Given the description of an element on the screen output the (x, y) to click on. 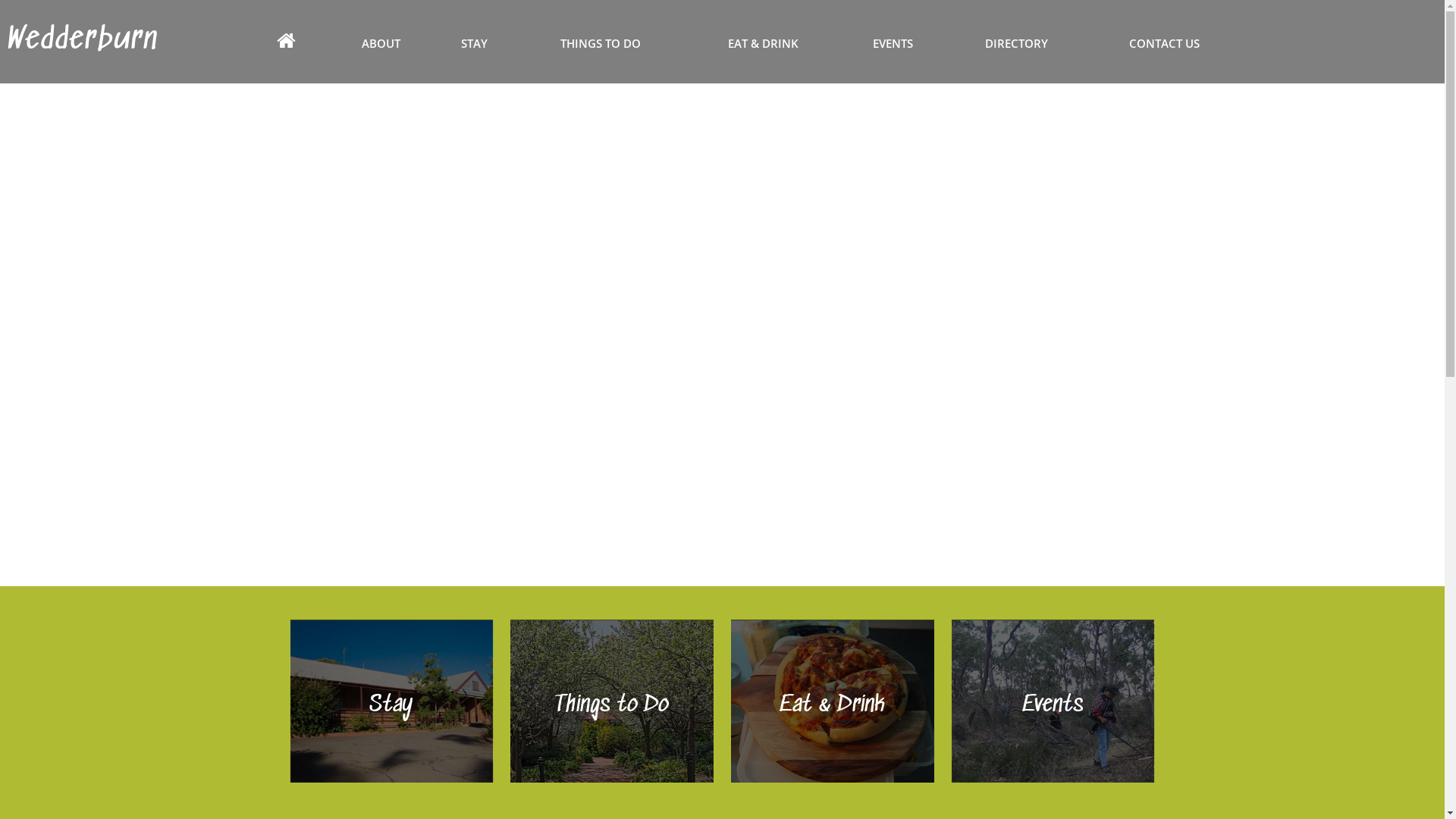
Things to Do Element type: text (611, 705)
DIRECTORY Element type: text (1015, 42)
Events Element type: text (1052, 705)
Eat & Drink Element type: text (832, 705)
STAY Element type: text (474, 42)
ABOUT Element type: text (380, 42)
THINGS TO DO Element type: text (600, 42)
Stay Element type: text (391, 705)
EVENTS Element type: text (892, 42)
EAT & DRINK Element type: text (762, 42)
CONTACT US Element type: text (1164, 42)
